Given the description of an element on the screen output the (x, y) to click on. 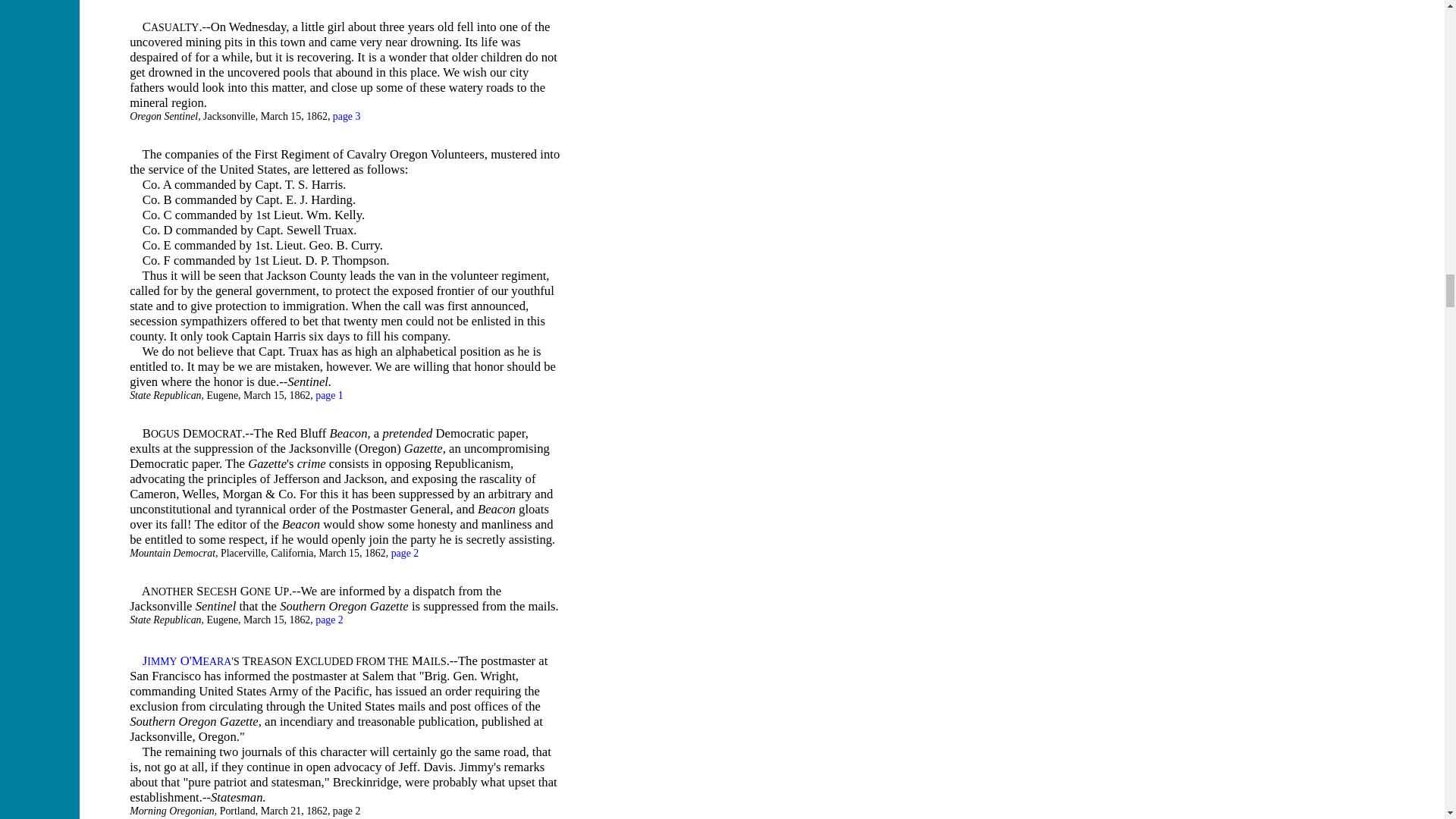
EARA (217, 661)
JIMMY O'M (172, 660)
page 1 (329, 395)
page 2 (329, 619)
page 3 (347, 116)
page 2 (405, 552)
